Given the description of an element on the screen output the (x, y) to click on. 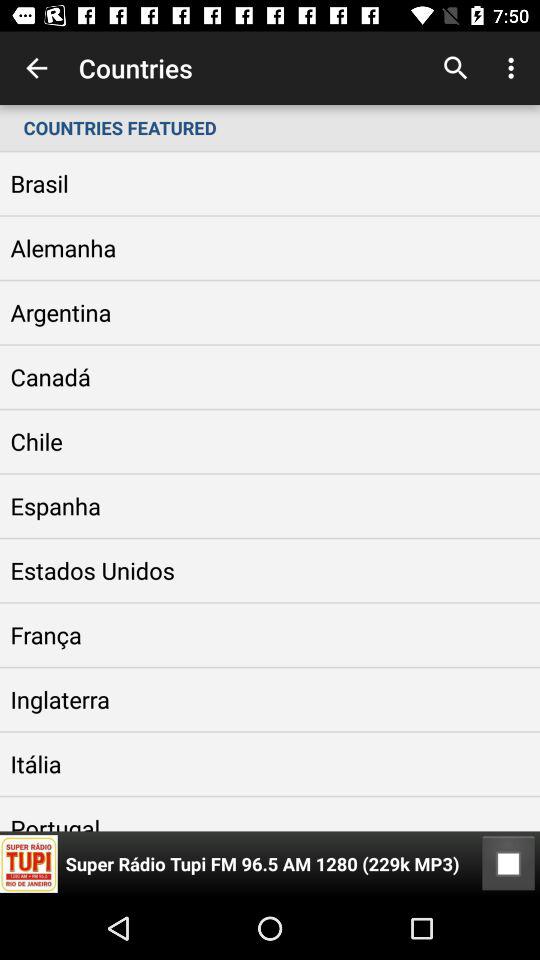
tap item at the bottom right corner (508, 863)
